Given the description of an element on the screen output the (x, y) to click on. 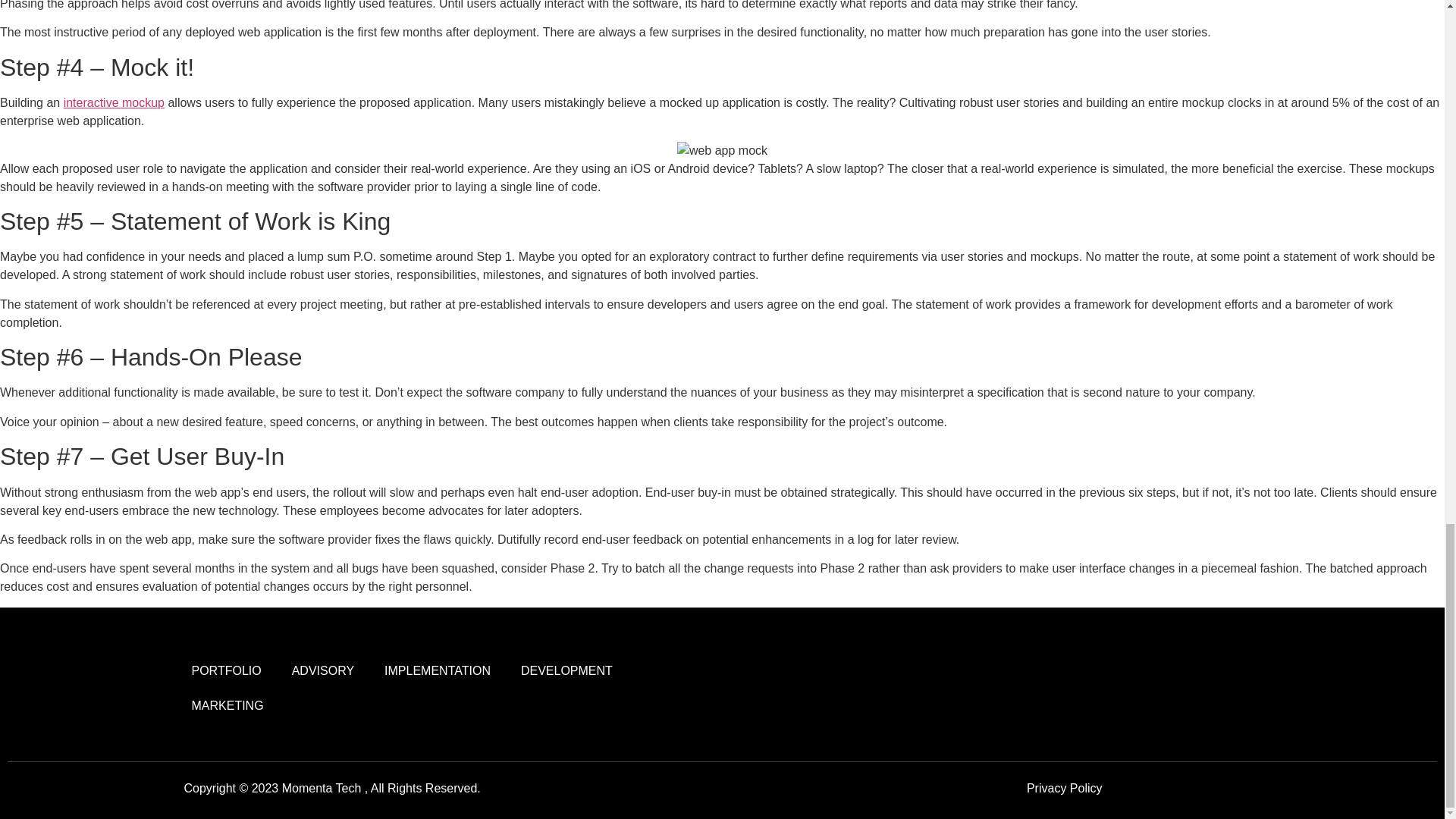
ADVISORY (322, 670)
IMPLEMENTATION (437, 670)
interactive mockup (114, 102)
MARKETING (227, 705)
Privacy Policy (1064, 788)
DEVELOPMENT (566, 670)
PORTFOLIO (226, 670)
